Given the description of an element on the screen output the (x, y) to click on. 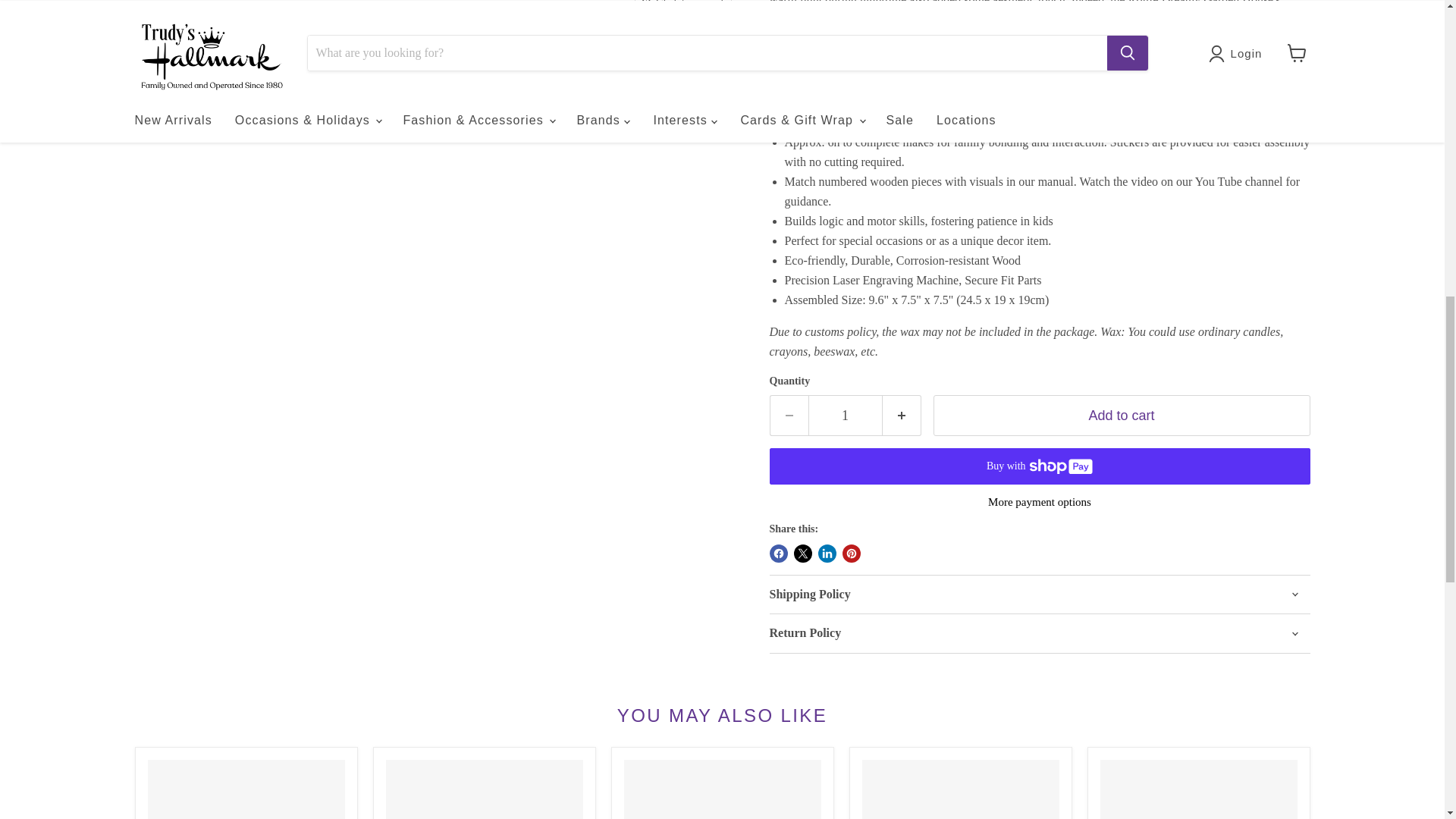
1 (845, 415)
